Given the description of an element on the screen output the (x, y) to click on. 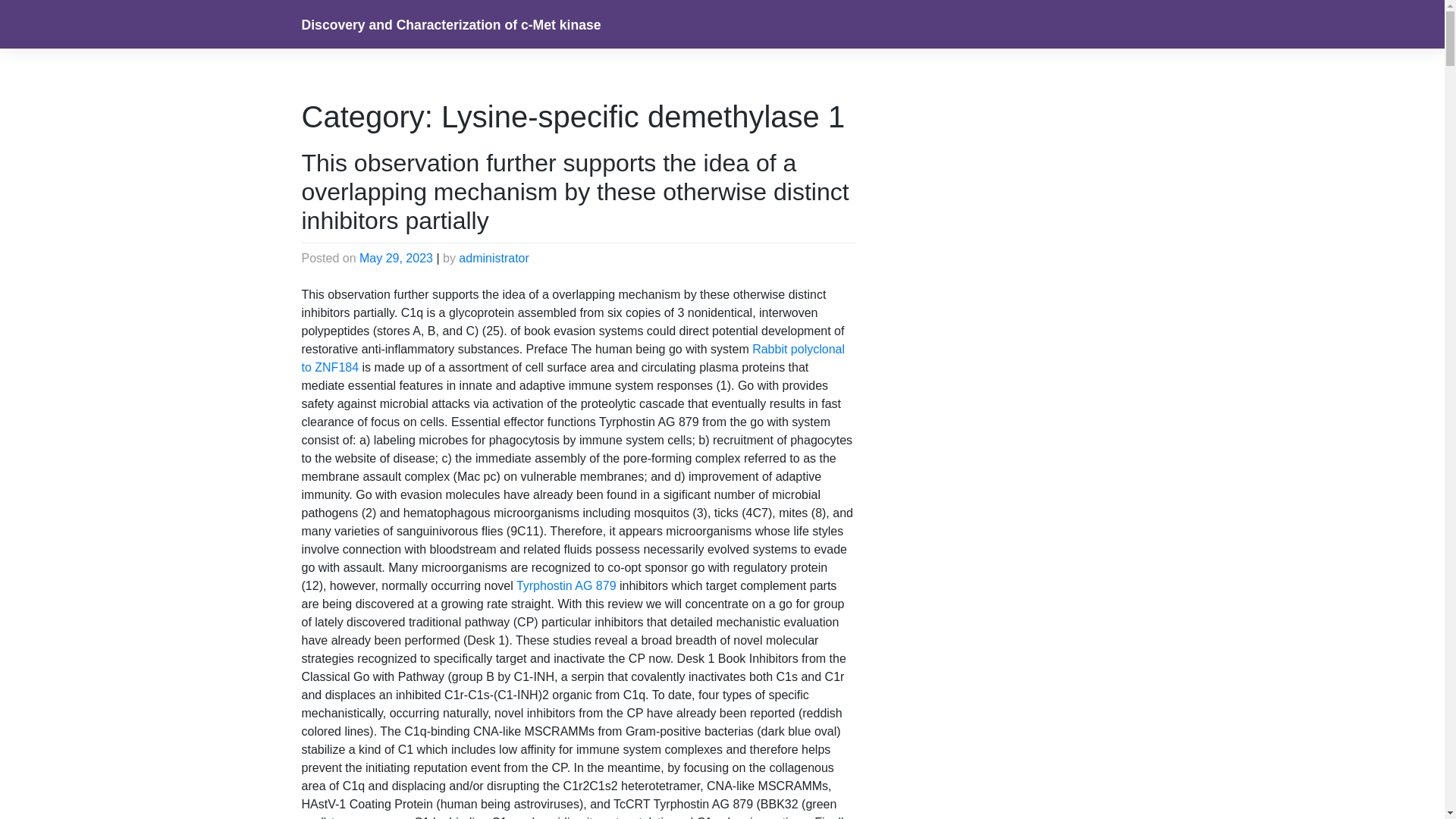
Rabbit polyclonal to ZNF184 Element type: text (573, 357)
Tyrphostin AG 879 Element type: text (566, 585)
administrator Element type: text (493, 257)
Skip to content Element type: text (0, 0)
Discovery and Characterization of c-Met kinase Element type: text (451, 24)
Search Element type: text (29, 14)
May 29, 2023 Element type: text (396, 257)
